Given the description of an element on the screen output the (x, y) to click on. 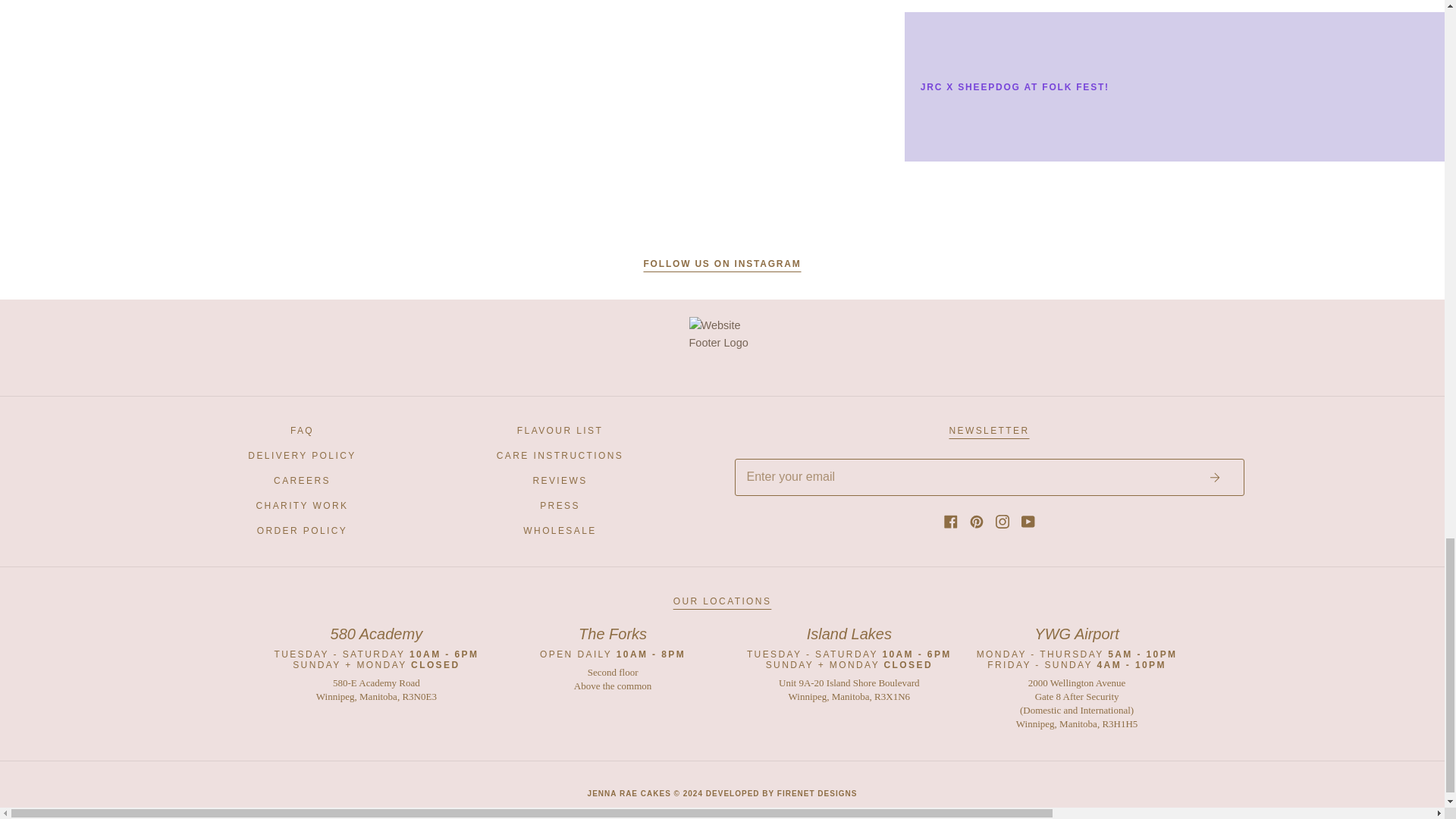
Instagram (1001, 520)
Facebook (949, 520)
Pinterest (975, 520)
YouTube (1026, 520)
